Given the description of an element on the screen output the (x, y) to click on. 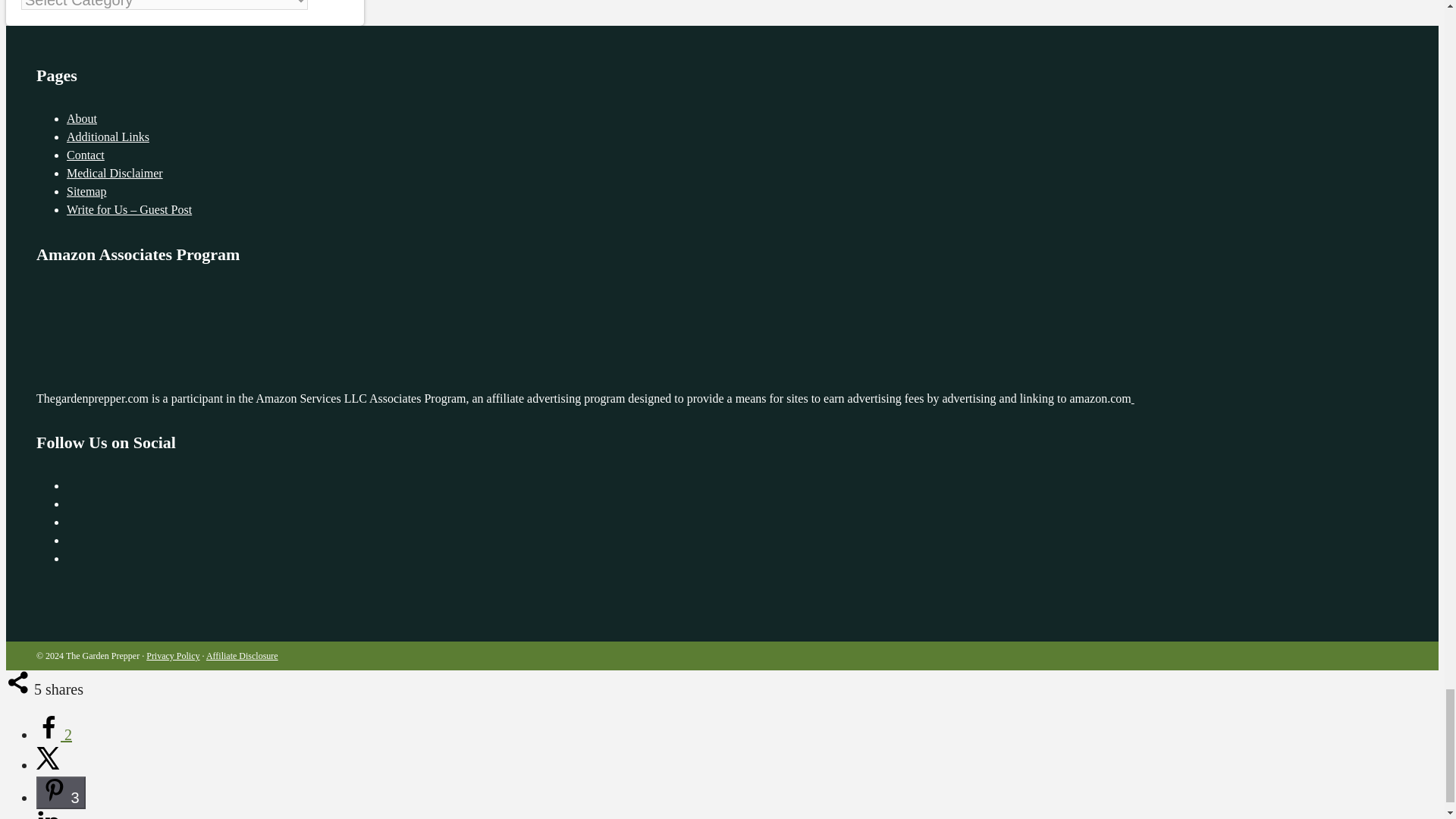
Share on X (48, 764)
Share on Facebook (53, 734)
DMCA.com Protection Status (1246, 398)
Save to Pinterest (60, 792)
